Given the description of an element on the screen output the (x, y) to click on. 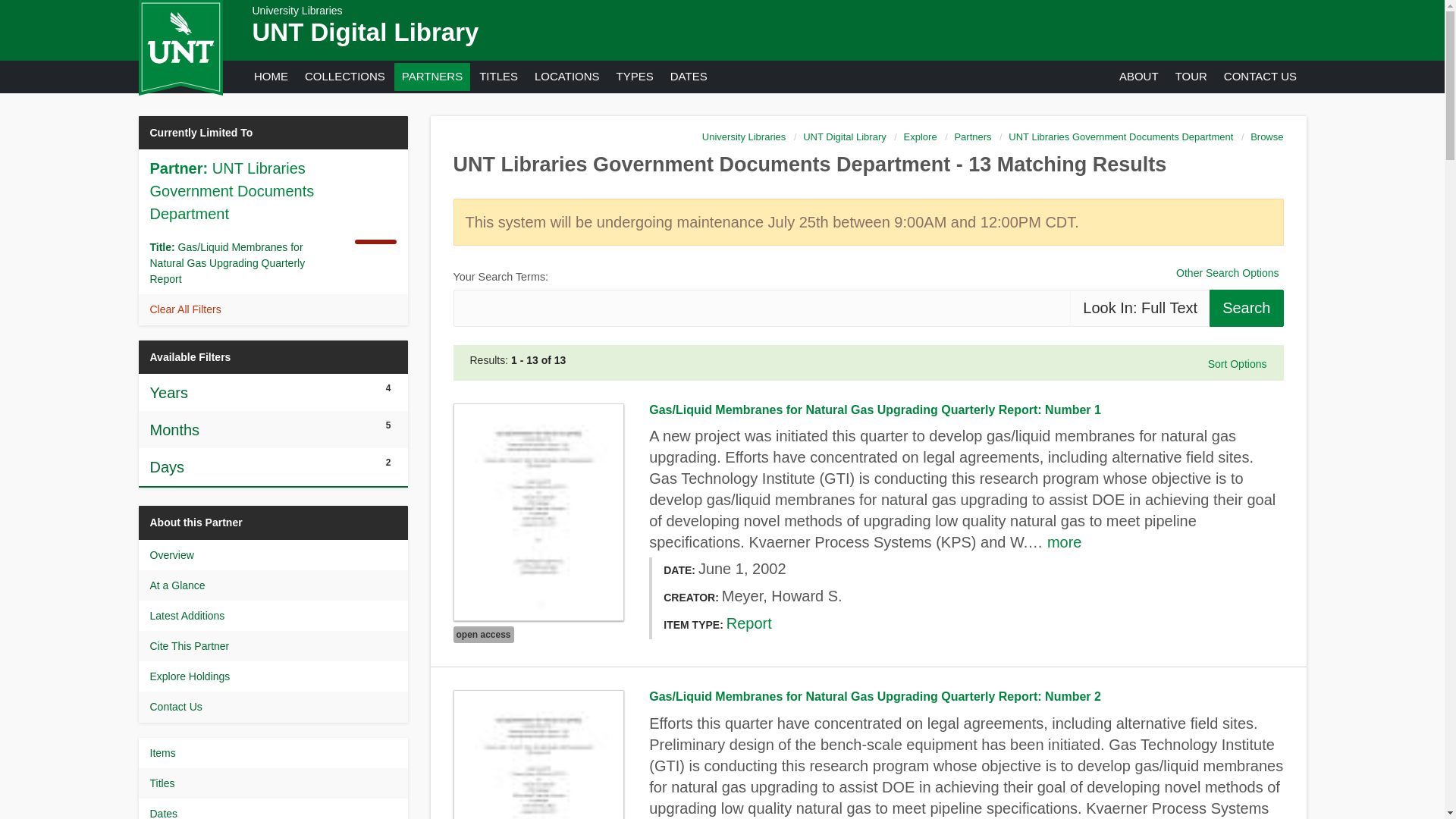
University Libraries (296, 10)
HOME (270, 76)
UNT Digital Library (365, 31)
